Given the description of an element on the screen output the (x, y) to click on. 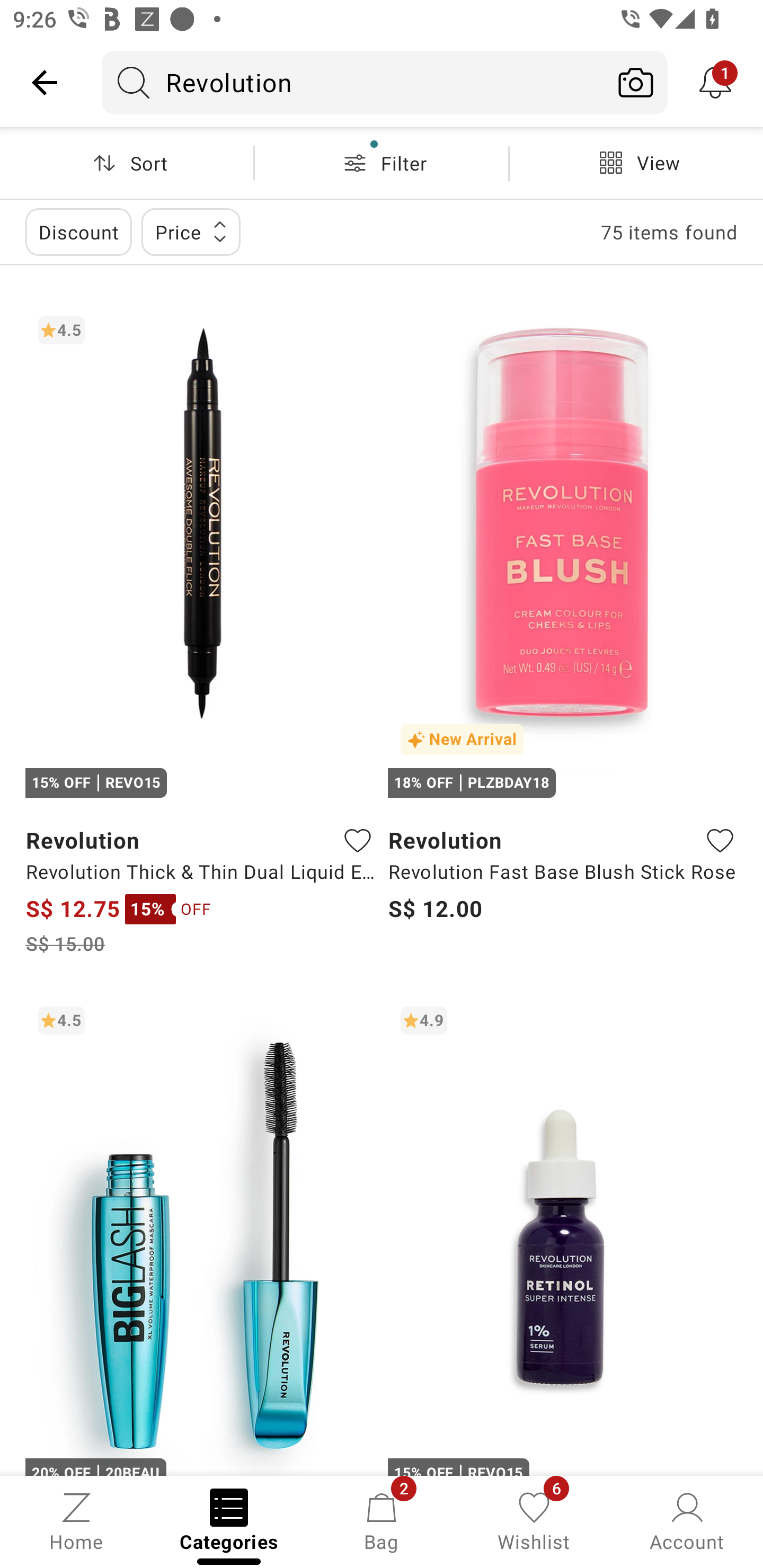
Navigate up (44, 82)
Revolution (352, 82)
Sort (126, 163)
Filter (381, 163)
View (636, 163)
Discount (78, 231)
Price (190, 231)
4.5 20% OFF 20BEAU (200, 1234)
4.9 15% OFF REVO15 (562, 1234)
Home (76, 1519)
Bag, 2 new notifications Bag (381, 1519)
Wishlist, 6 new notifications Wishlist (533, 1519)
Account (686, 1519)
